Given the description of an element on the screen output the (x, y) to click on. 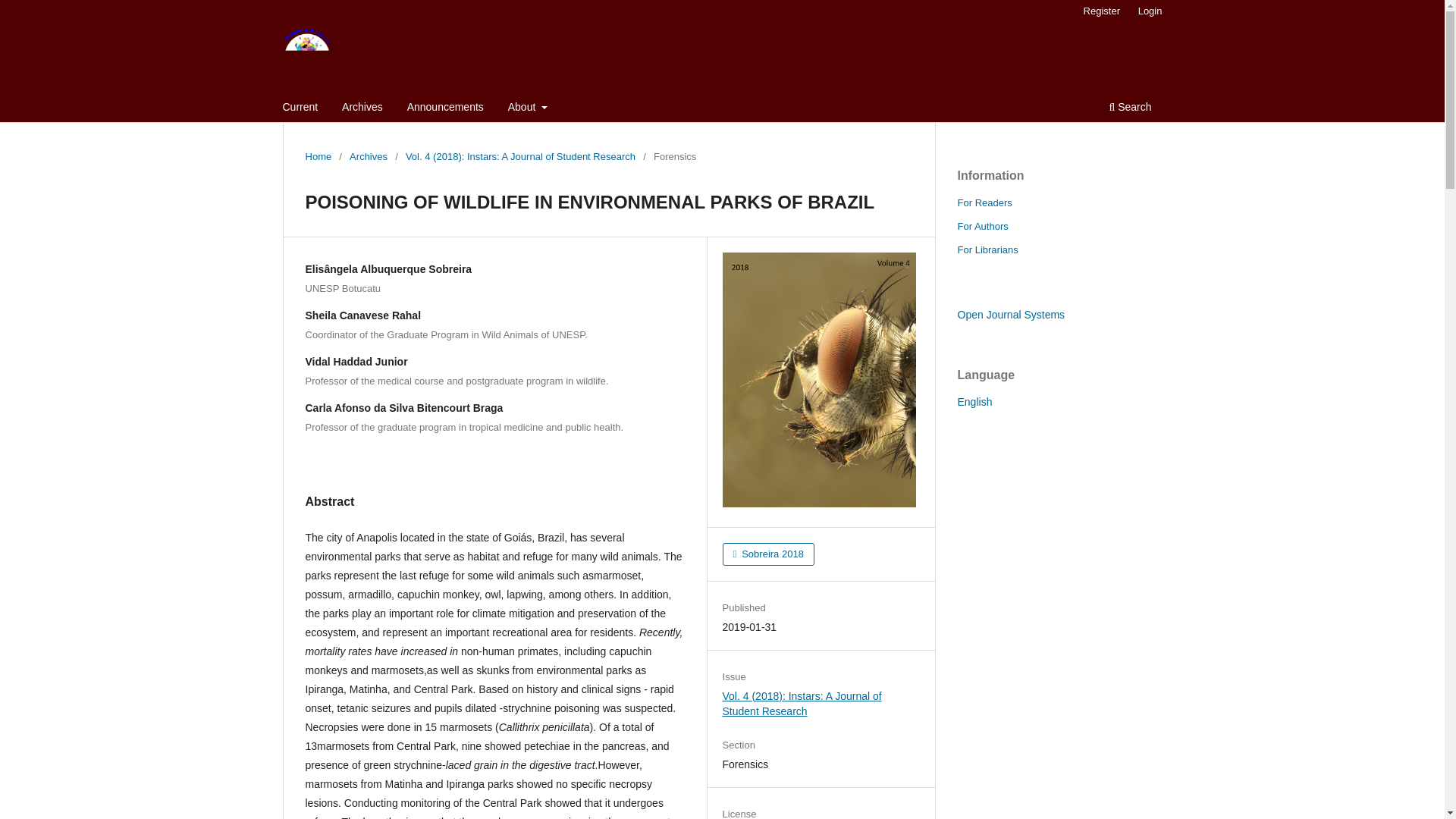
About (527, 108)
Home (317, 156)
Current (300, 108)
Sobreira 2018 (767, 553)
Register (1100, 11)
For Authors (981, 225)
English (973, 401)
Archives (362, 108)
Archives (368, 156)
For Librarians (986, 249)
